Given the description of an element on the screen output the (x, y) to click on. 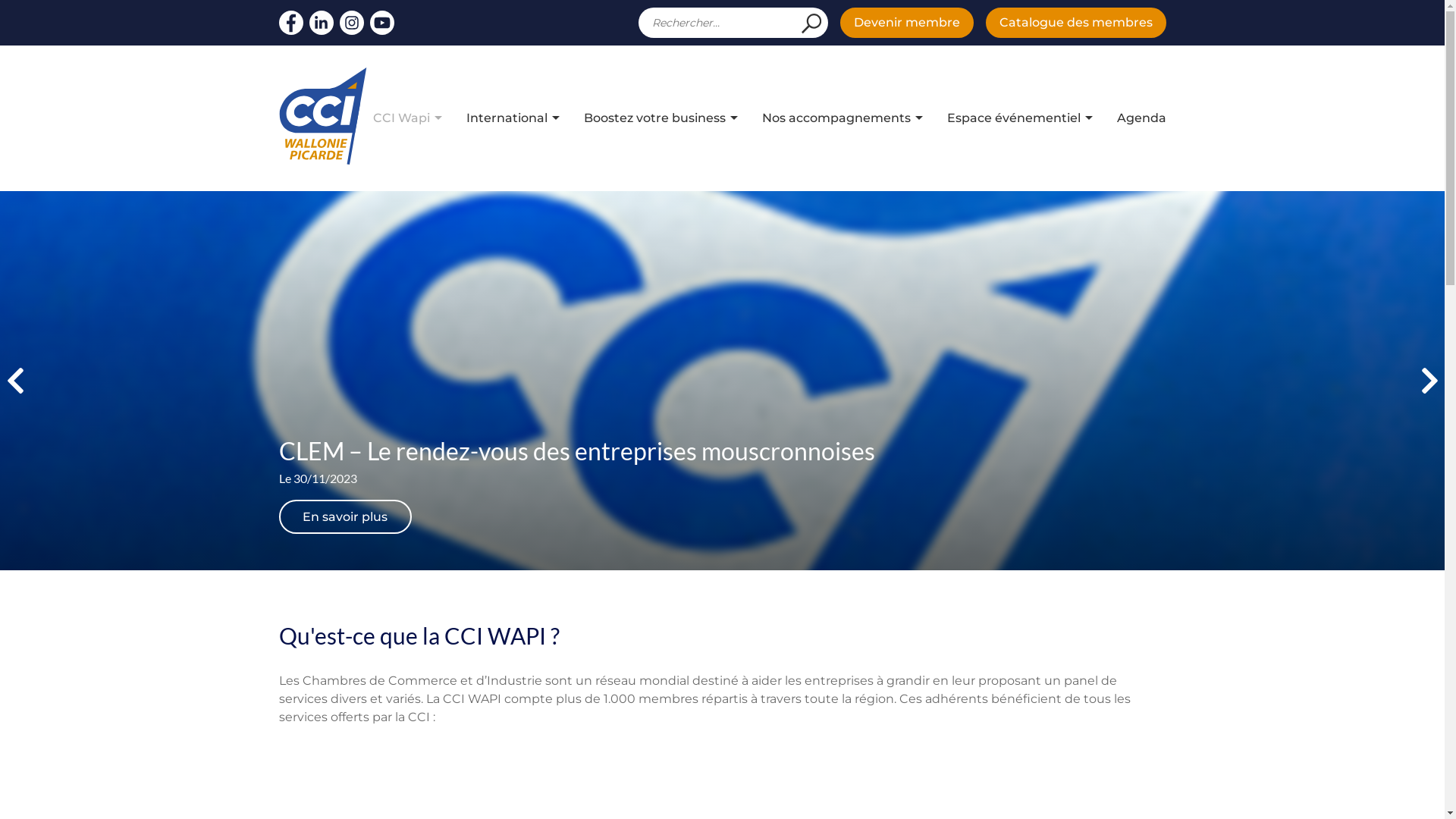
Youtube Element type: hover (382, 22)
International Element type: text (505, 117)
Nos accompagnements Element type: text (835, 117)
Devenir membre Element type: text (906, 22)
Instagram Element type: hover (351, 22)
Boostez votre business Element type: text (654, 117)
Facebook Element type: hover (291, 22)
Catalogue des membres Element type: text (1075, 22)
CCI Wapi Element type: text (401, 117)
Agenda Element type: text (1140, 117)
LinkedIn Element type: hover (321, 22)
En savoir plus Element type: text (345, 516)
